Given the description of an element on the screen output the (x, y) to click on. 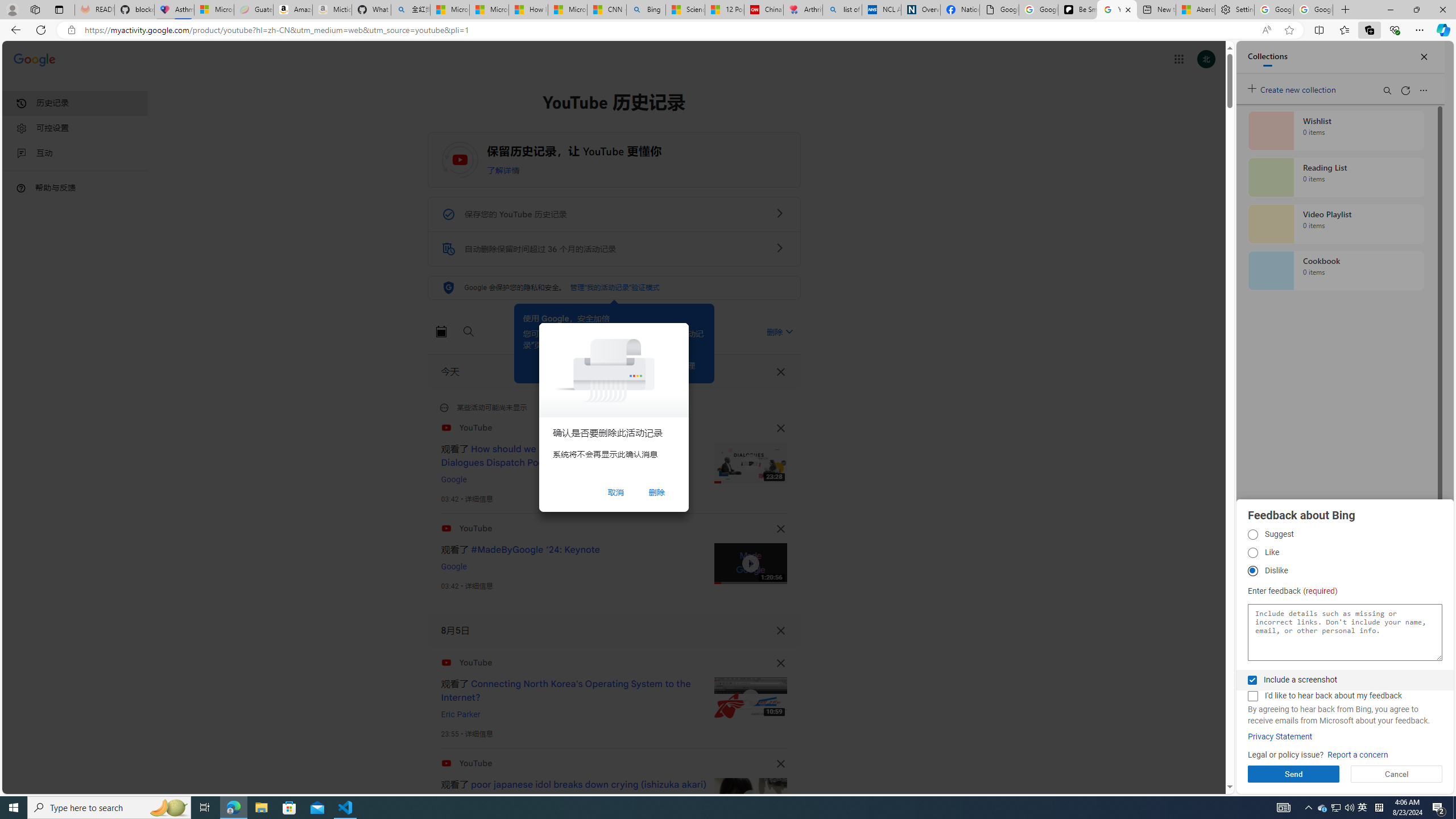
Be Smart | creating Science videos | Patreon (1077, 9)
Arthritis: Ask Health Professionals (802, 9)
Google Analytics Opt-out Browser Add-on Download Page (999, 9)
Aberdeen, Hong Kong SAR hourly forecast | Microsoft Weather (1195, 9)
12 Popular Science Lies that Must be Corrected (724, 9)
Report a concern (1358, 755)
